Given the description of an element on the screen output the (x, y) to click on. 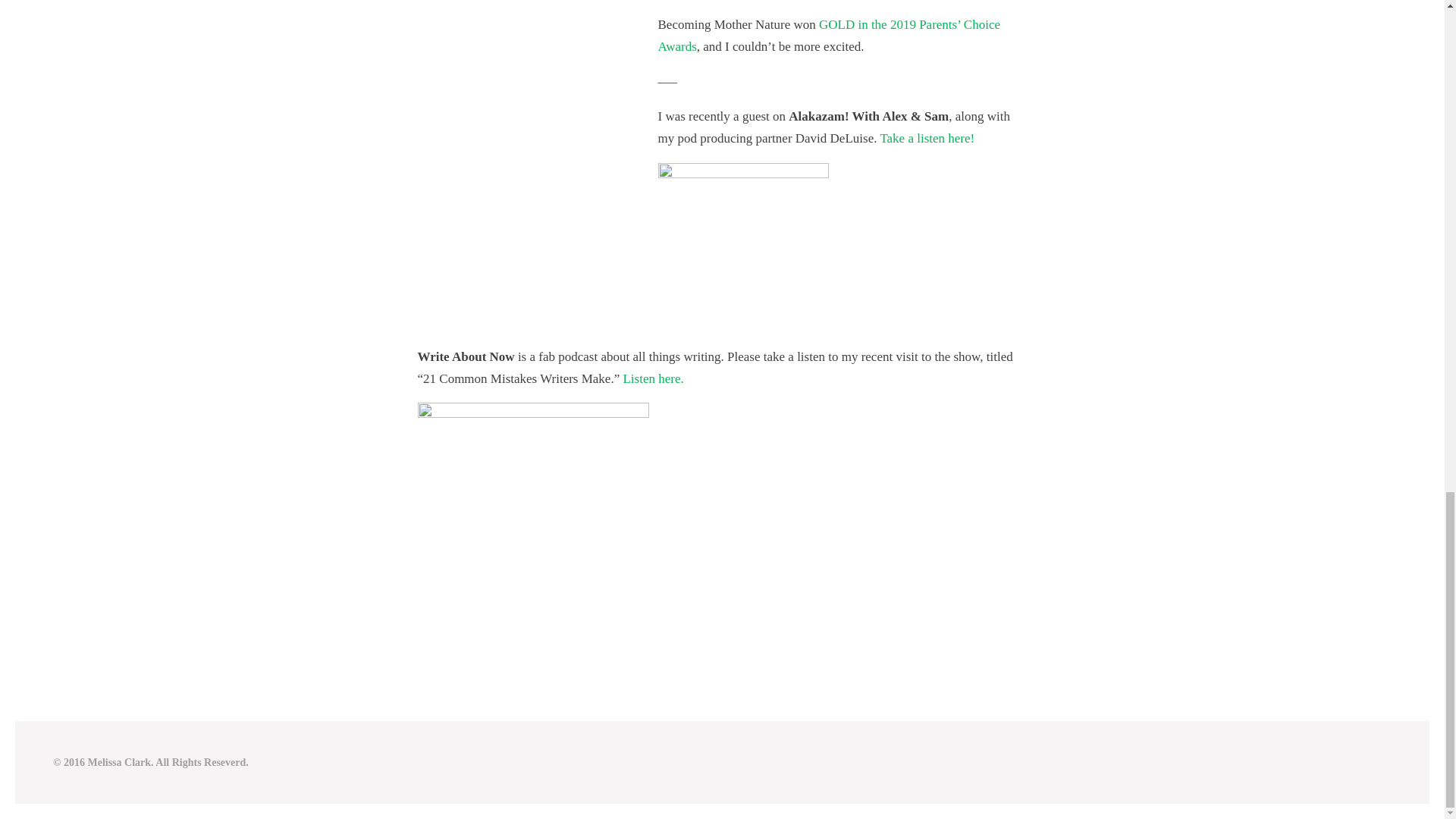
Listen here. (652, 377)
Take a listen here! (926, 138)
Good Reads (1382, 760)
Twitter (1336, 760)
instagram (1359, 760)
